Given the description of an element on the screen output the (x, y) to click on. 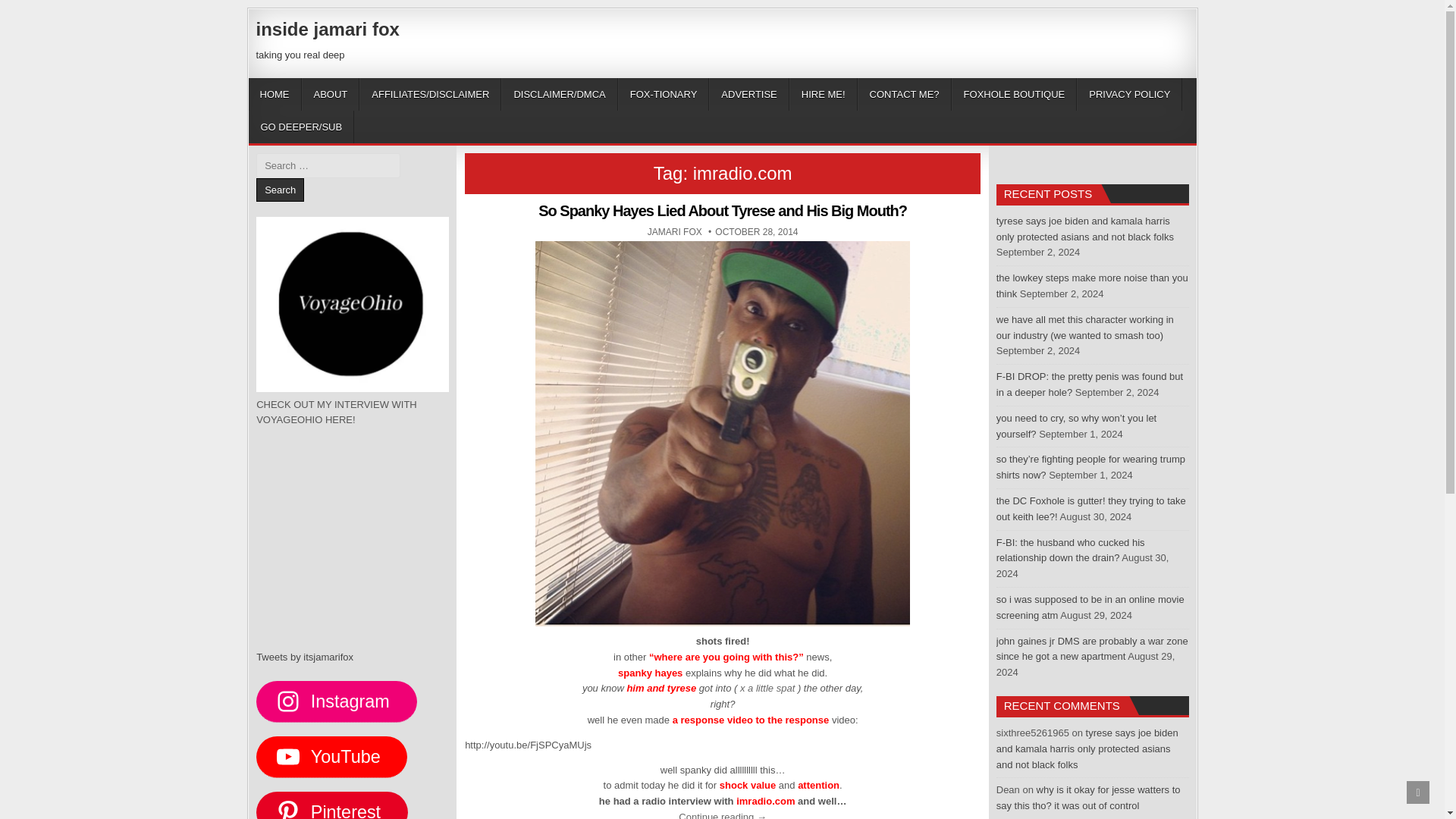
so i was supposed to be in an online movie screening atm (1090, 606)
FOX-TIONARY (663, 93)
FOXHOLE BOUTIQUE (1014, 93)
Tweets by itsjamarifox (304, 656)
YouTube (331, 756)
CONTACT ME? (904, 93)
Search (674, 231)
F-BI DROP: the pretty penis was found but in a deeper hole? (280, 189)
